Given the description of an element on the screen output the (x, y) to click on. 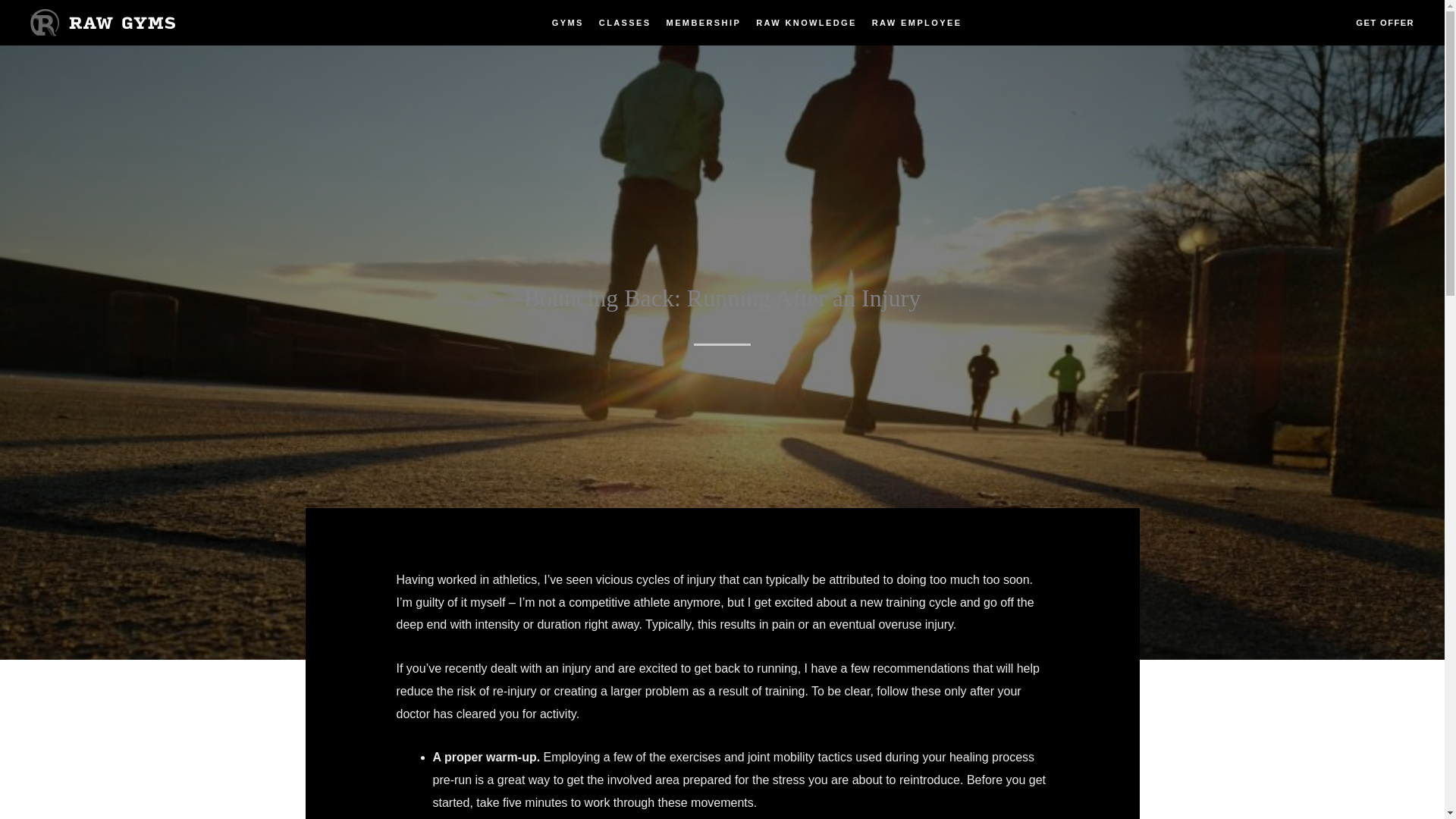
MEMBERSHIP (704, 22)
raw gyms dublin (102, 22)
CLASSES (625, 22)
RAW KNOWLEDGE (806, 22)
GYMS (567, 22)
RAW EMPLOYEE (916, 22)
